Given the description of an element on the screen output the (x, y) to click on. 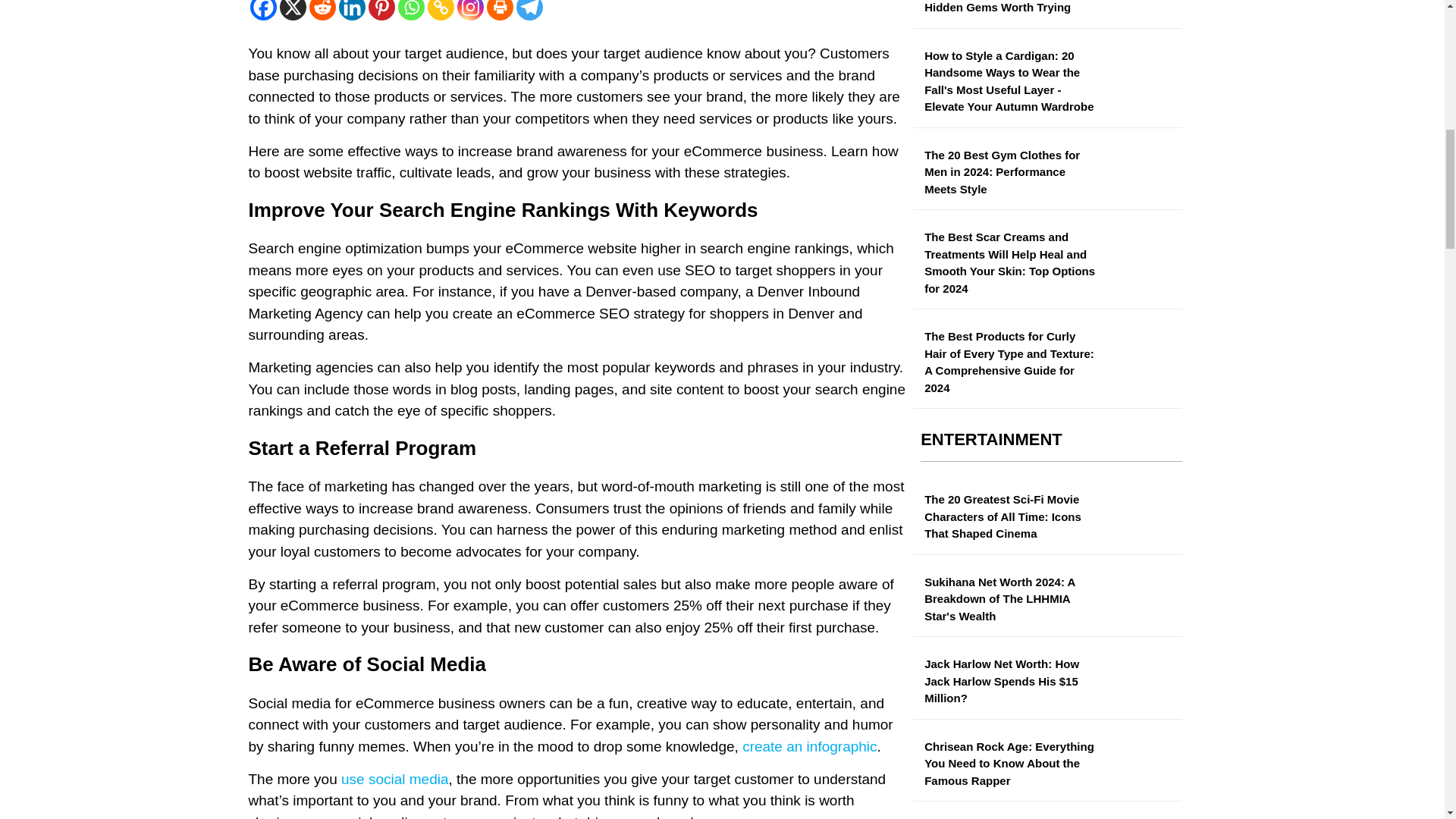
Telegram (528, 10)
Linkedin (351, 10)
Copy Link (441, 10)
Facebook (263, 10)
X (292, 10)
Reddit (322, 10)
Print (499, 10)
Instagram (470, 10)
Whatsapp (410, 10)
Pinterest (381, 10)
